Given the description of an element on the screen output the (x, y) to click on. 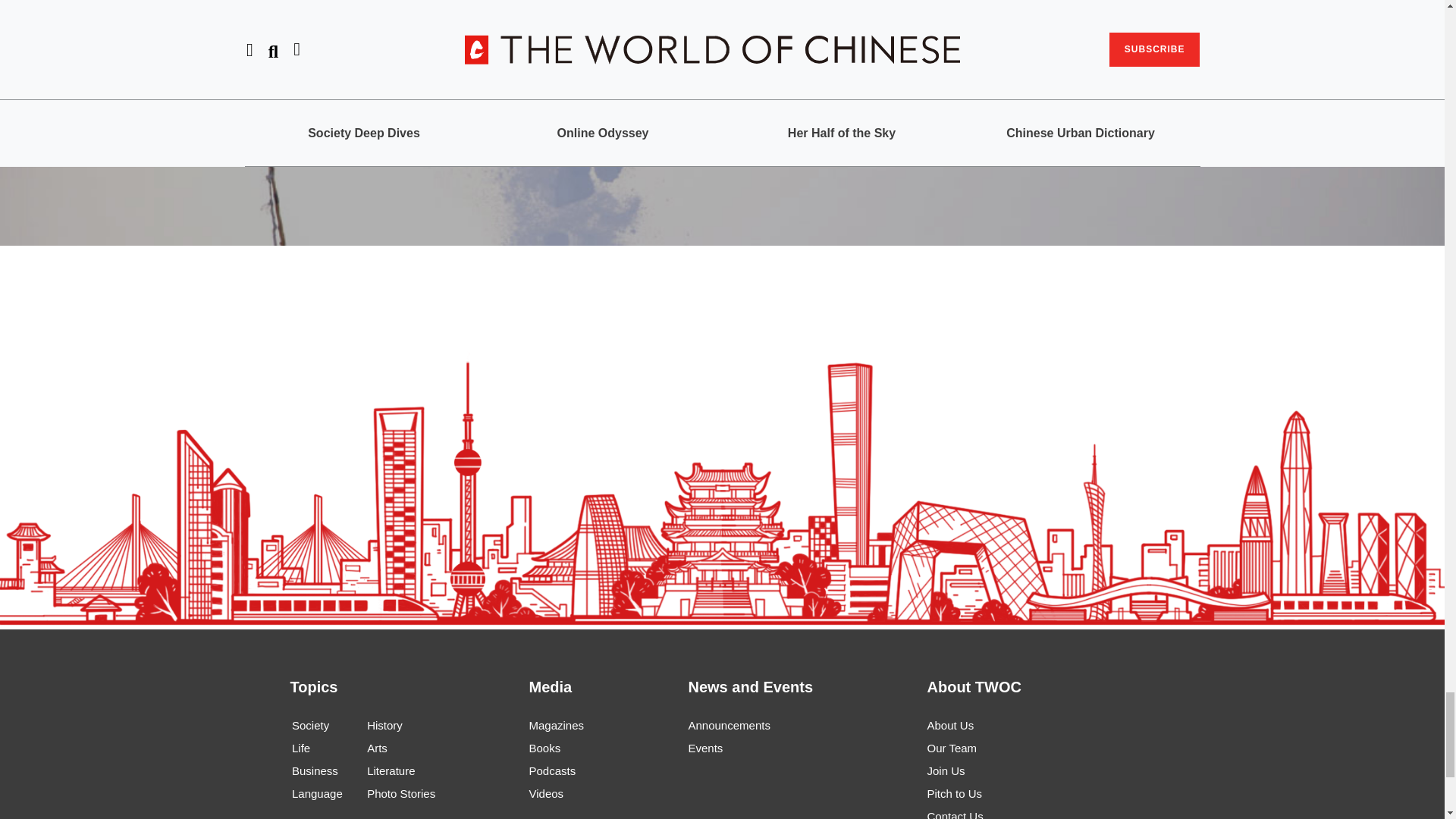
SIGN UP (867, 65)
